Given the description of an element on the screen output the (x, y) to click on. 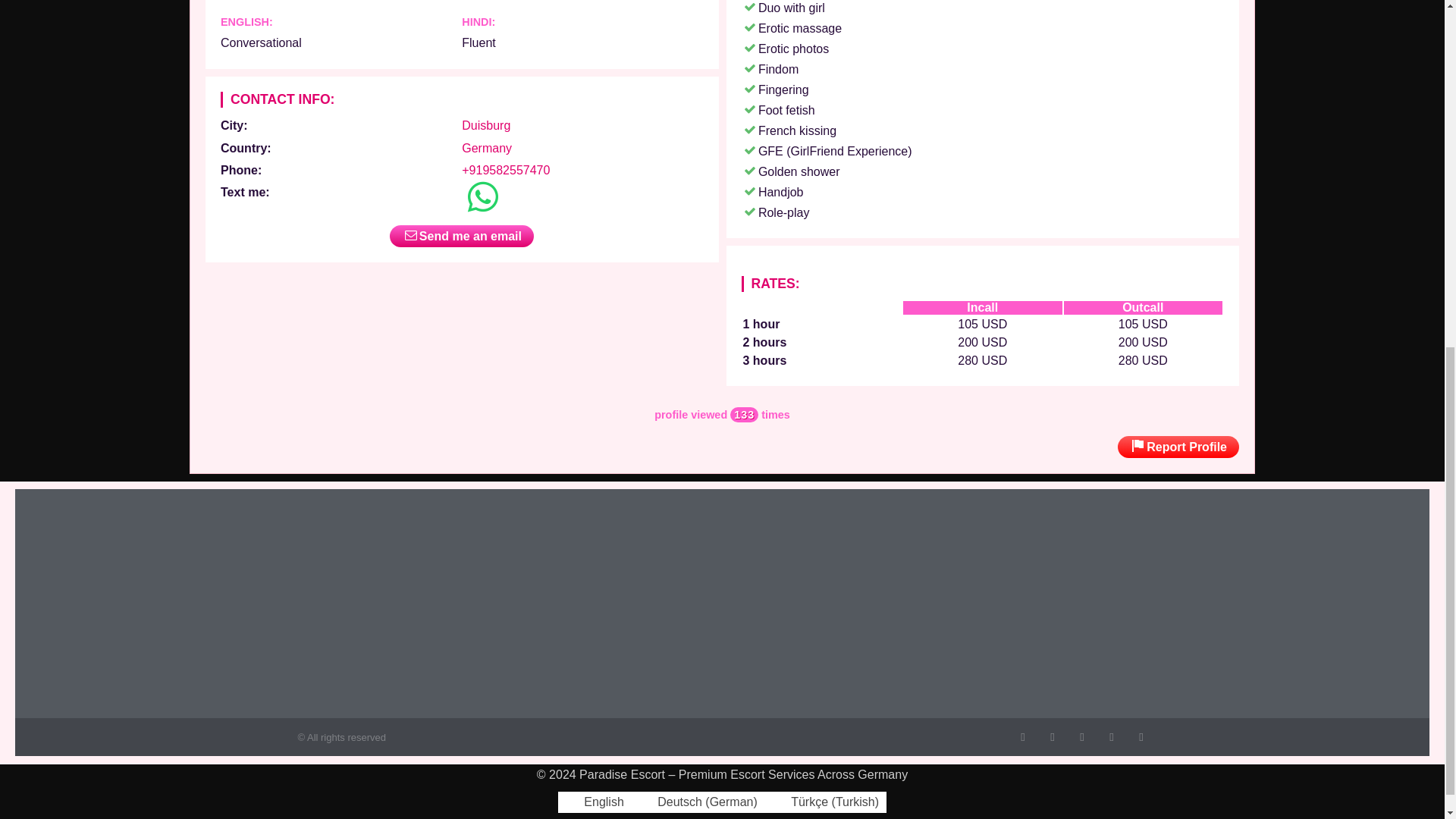
Germany (486, 147)
Duisburg (486, 124)
Duisburg (486, 124)
Germany (486, 147)
